Given the description of an element on the screen output the (x, y) to click on. 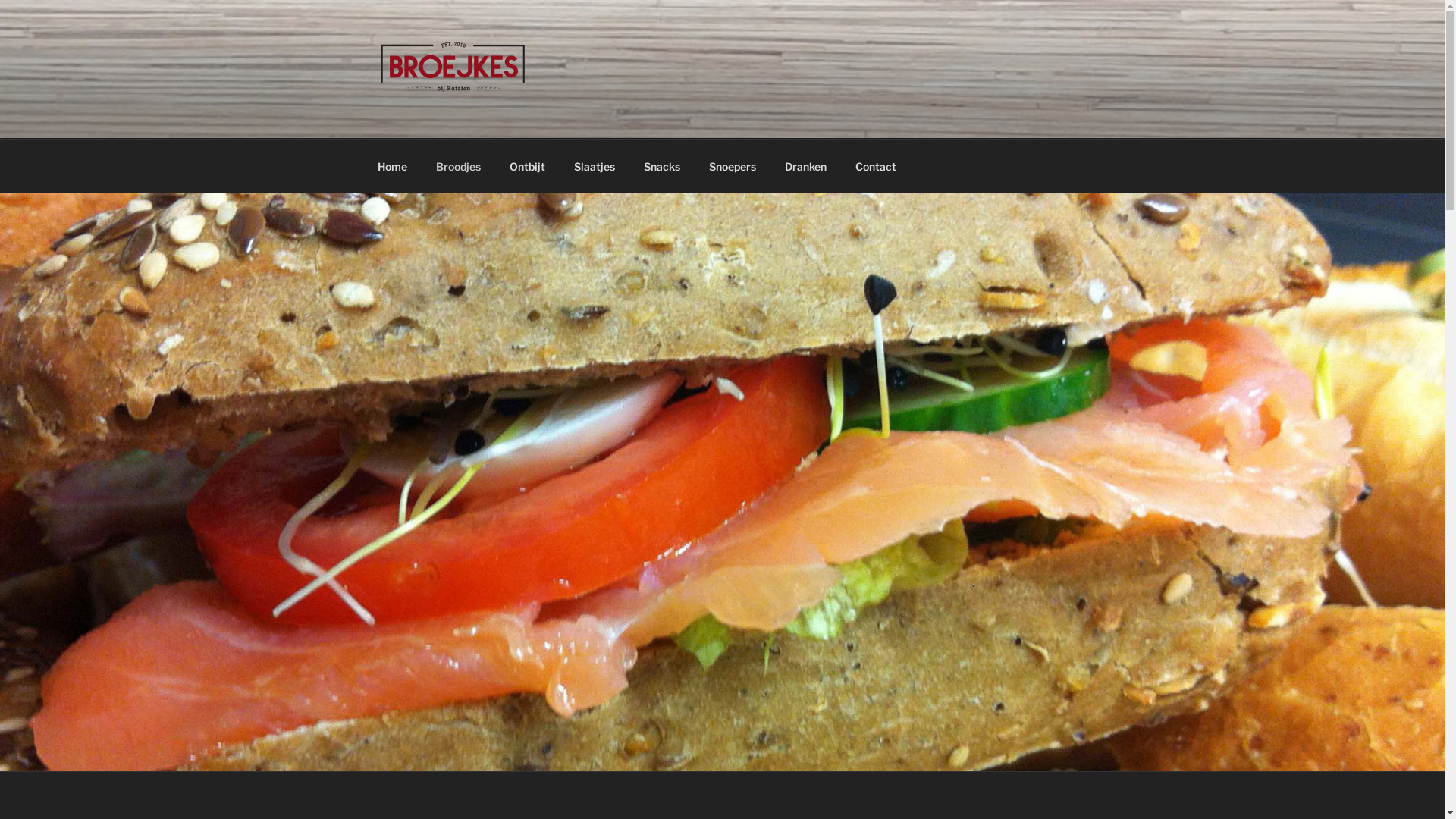
Contact Element type: text (875, 165)
Broodjes Element type: text (458, 165)
Snacks Element type: text (661, 165)
BROEJKES Element type: text (462, 118)
Snoepers Element type: text (732, 165)
Home Element type: text (392, 165)
Dranken Element type: text (805, 165)
Ontbijt Element type: text (526, 165)
Slaatjes Element type: text (594, 165)
